Given the description of an element on the screen output the (x, y) to click on. 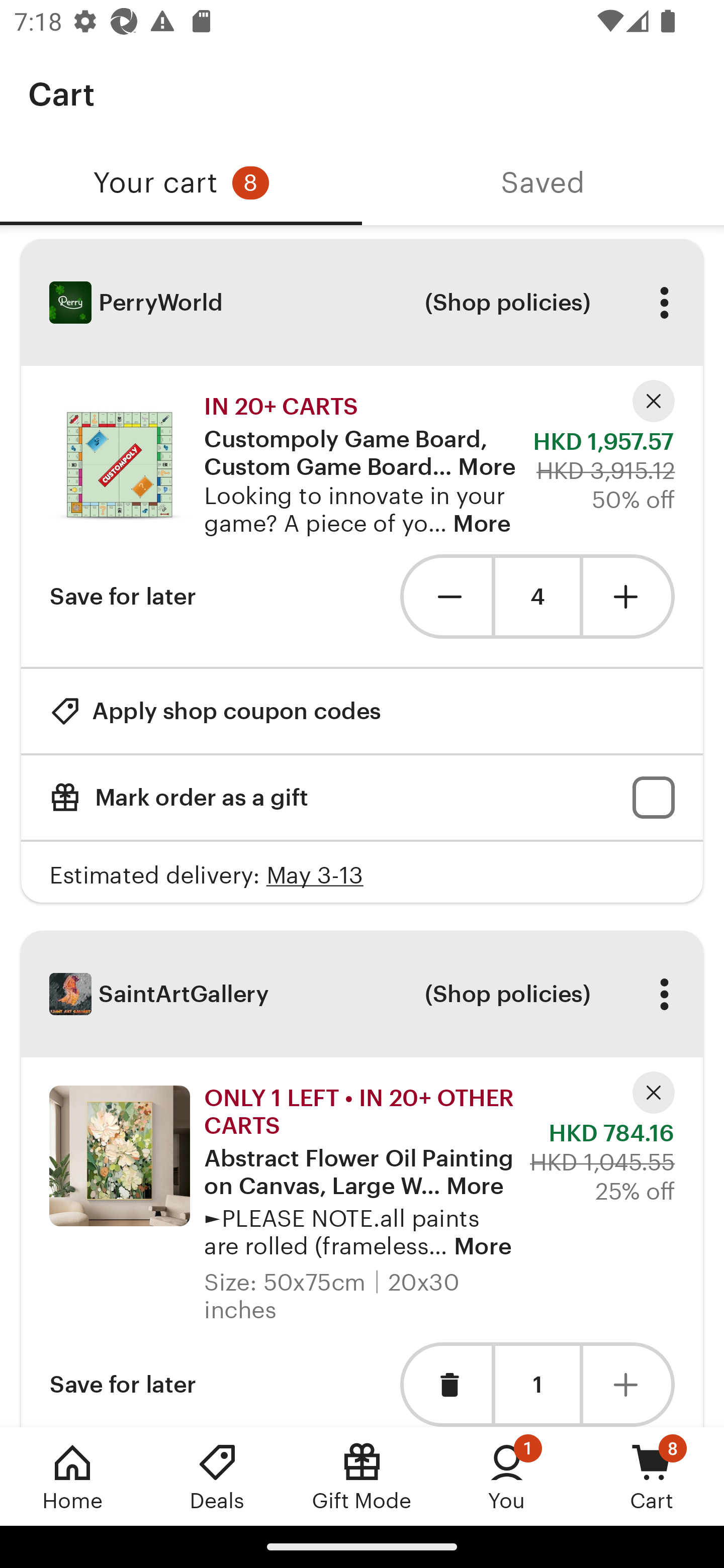
Saved, tab 2 of 2 Saved (543, 183)
PerryWorld (Shop policies) More options (361, 302)
(Shop policies) (507, 302)
More options (663, 302)
Save for later (122, 596)
Remove one unit from cart (445, 596)
Add one unit to cart (628, 596)
4 (537, 597)
Apply shop coupon codes (215, 710)
Mark order as a gift (361, 797)
SaintArtGallery (Shop policies) More options (361, 993)
(Shop policies) (507, 993)
More options (663, 993)
Save for later (122, 1384)
Remove item from cart (445, 1384)
Add one unit to cart (628, 1384)
1 (537, 1384)
Home (72, 1475)
Deals (216, 1475)
Gift Mode (361, 1475)
You, 1 new notification You (506, 1475)
